Given the description of an element on the screen output the (x, y) to click on. 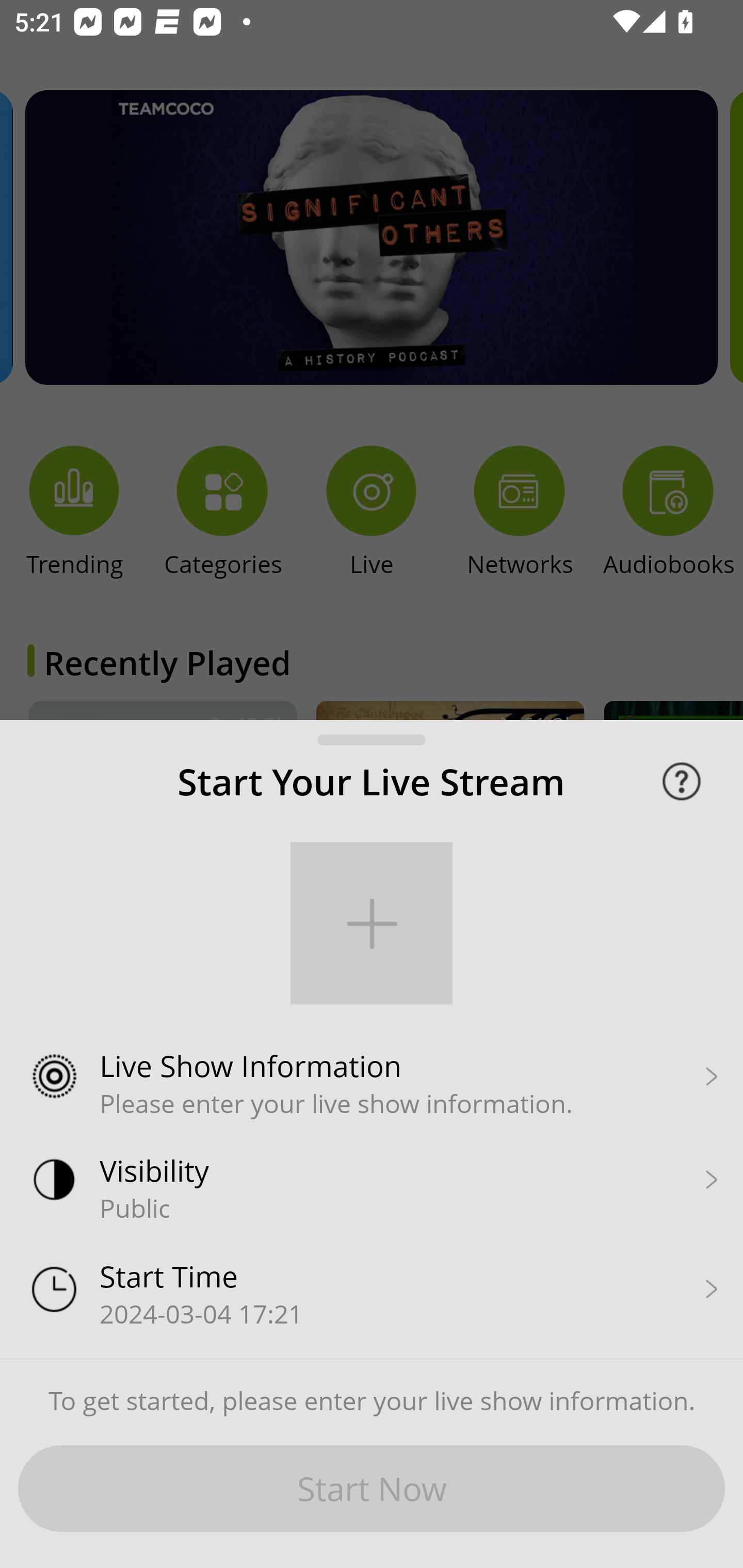
Visibility Public (371, 1178)
Start Time 2024-03-04 17:21 (371, 1283)
Start Now (371, 1488)
